Given the description of an element on the screen output the (x, y) to click on. 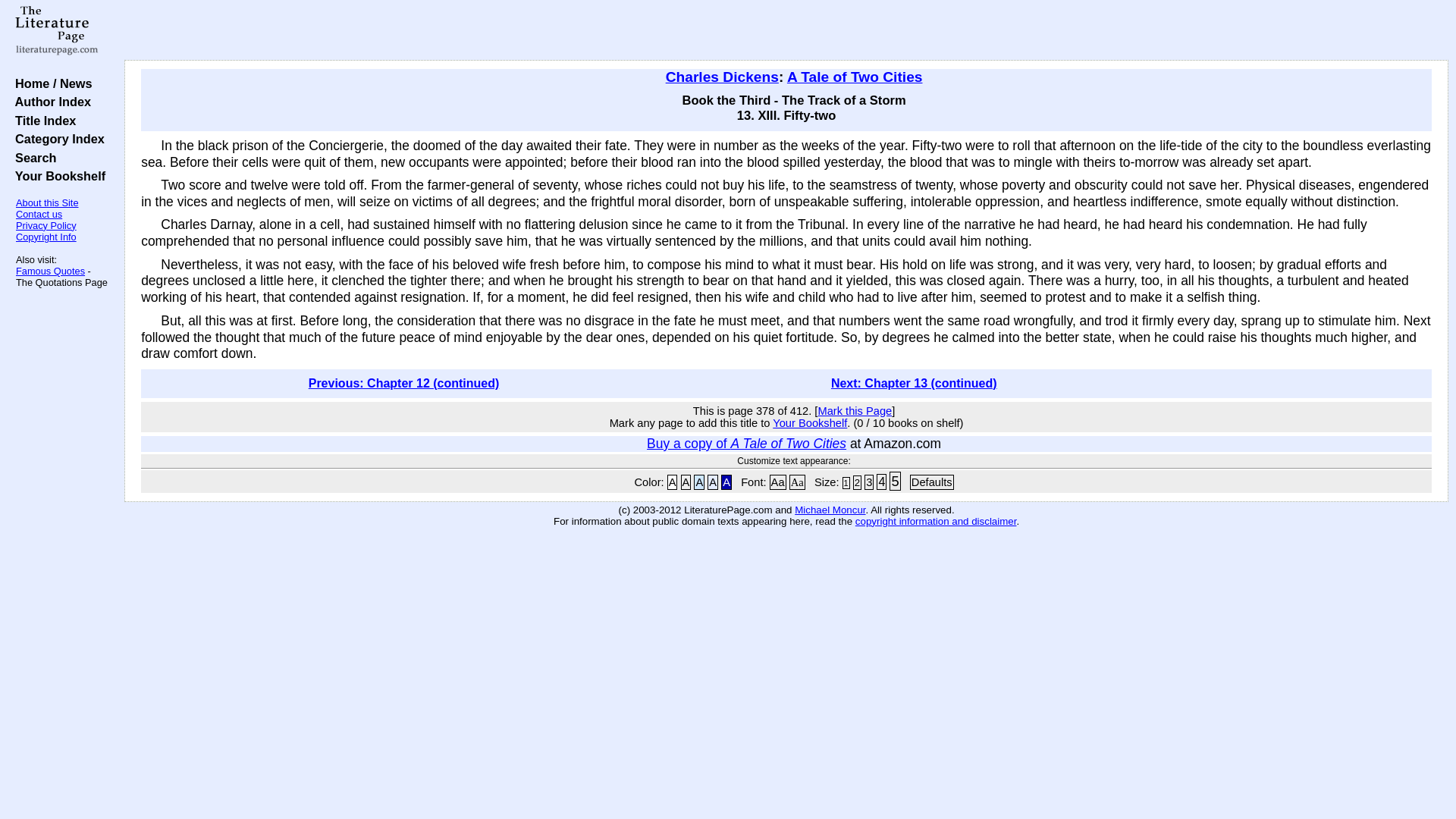
  Category Index (56, 138)
Aa (778, 482)
copyright information and disclaimer (936, 521)
Aa (797, 482)
  Author Index (49, 101)
  Title Index (41, 120)
Defaults (931, 482)
Buy a copy of A Tale of Two Cities (745, 443)
Mark this Page (853, 410)
  Search (32, 157)
A Tale of Two Cities (855, 76)
Serif (797, 482)
Famous Quotes (50, 270)
Privacy Policy (46, 225)
Charles Dickens (721, 76)
